Given the description of an element on the screen output the (x, y) to click on. 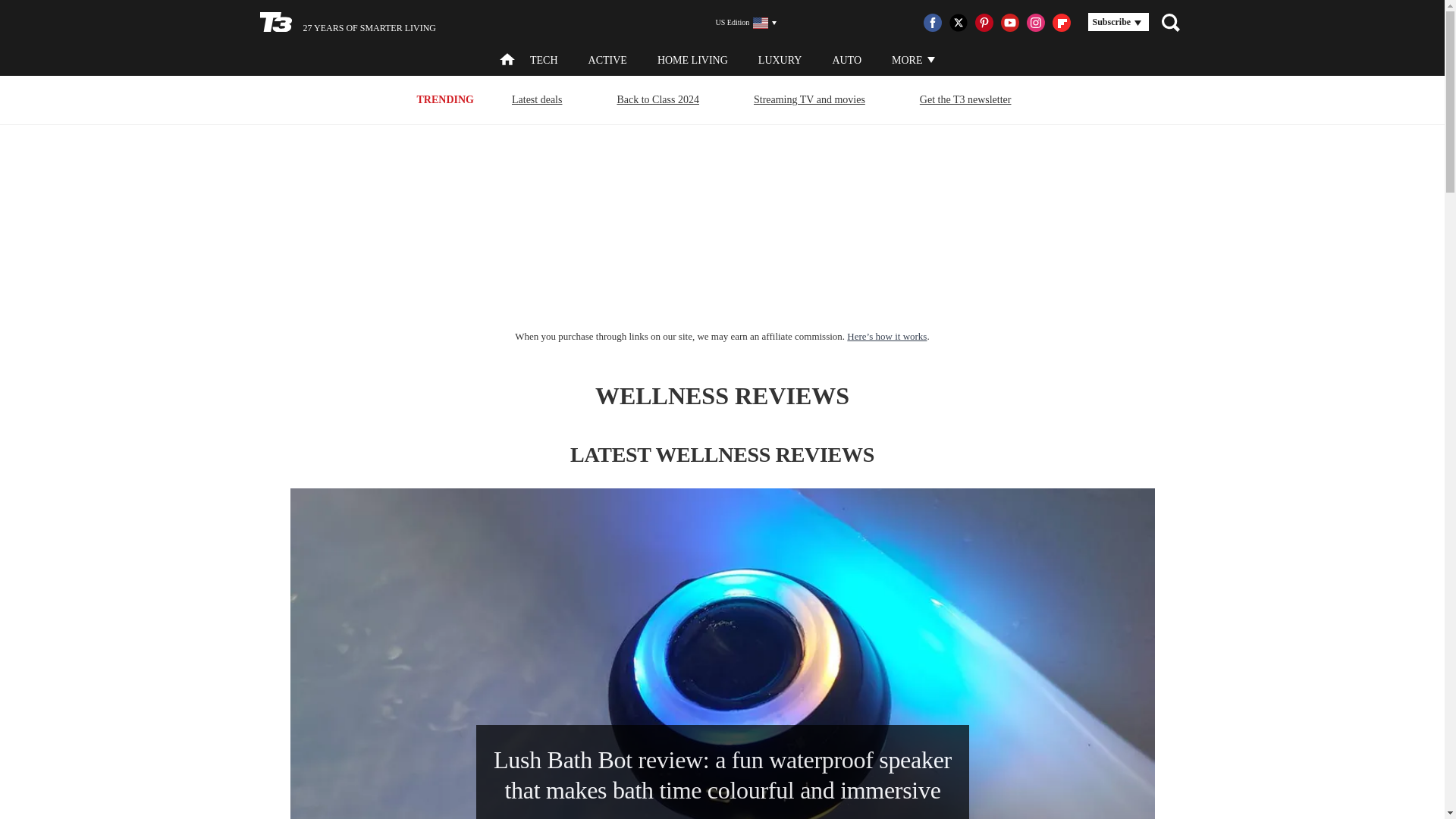
Get the T3 newsletter (965, 99)
Back to Class 2024 (657, 99)
TECH (543, 60)
Latest deals (536, 99)
ACTIVE (607, 60)
HOME LIVING (693, 60)
27 YEARS OF SMARTER LIVING (347, 23)
Streaming TV and movies (809, 99)
LUXURY (780, 60)
US Edition (740, 22)
